Given the description of an element on the screen output the (x, y) to click on. 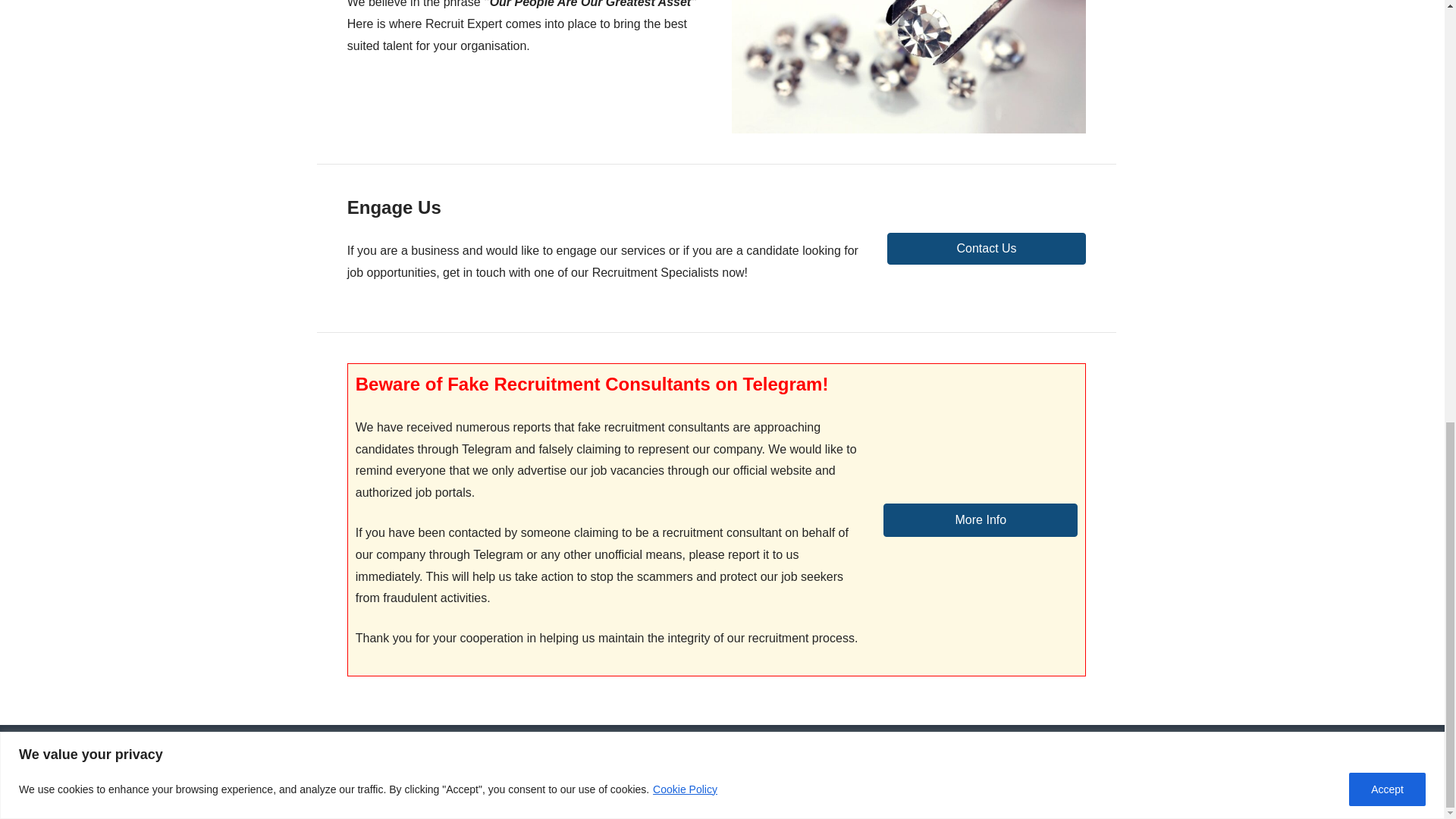
More Info (980, 520)
qtq80-6JBeIx (909, 67)
Privacy Statement (521, 757)
Contact Us (986, 248)
